Given the description of an element on the screen output the (x, y) to click on. 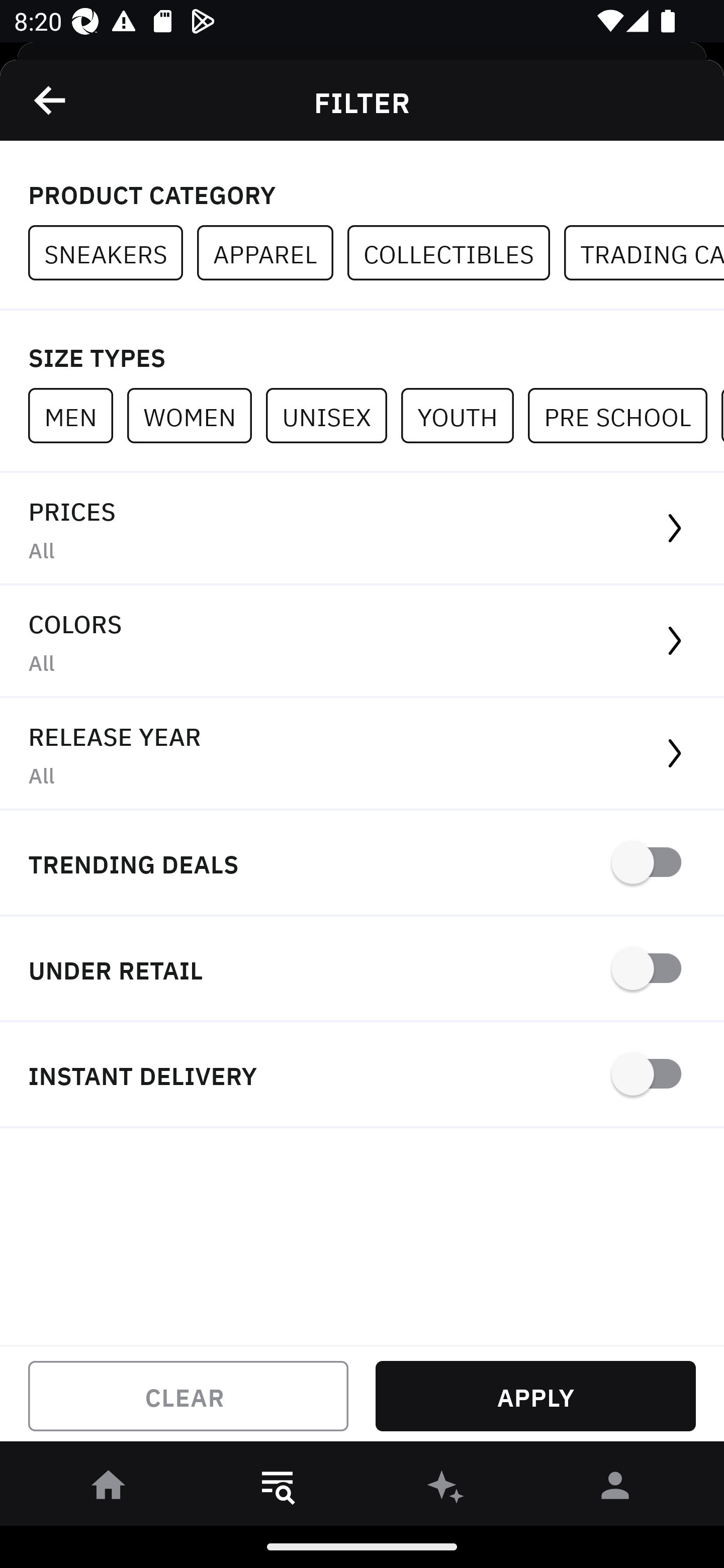
 (50, 100)
SNEAKERS (112, 252)
APPAREL (271, 252)
COLLECTIBLES (455, 252)
TRADING CARDS (643, 252)
MEN (77, 415)
WOMEN (196, 415)
UNISEX (333, 415)
YOUTH (464, 415)
PRE SCHOOL (624, 415)
PRICES All (362, 528)
COLORS All (362, 640)
RELEASE YEAR All (362, 753)
TRENDING DEALS (362, 863)
UNDER RETAIL (362, 969)
INSTANT DELIVERY (362, 1075)
CLEAR  (188, 1396)
APPLY (535, 1396)
󰋜 (108, 1488)
󱎸 (277, 1488)
󰫢 (446, 1488)
󰀄 (615, 1488)
